Given the description of an element on the screen output the (x, y) to click on. 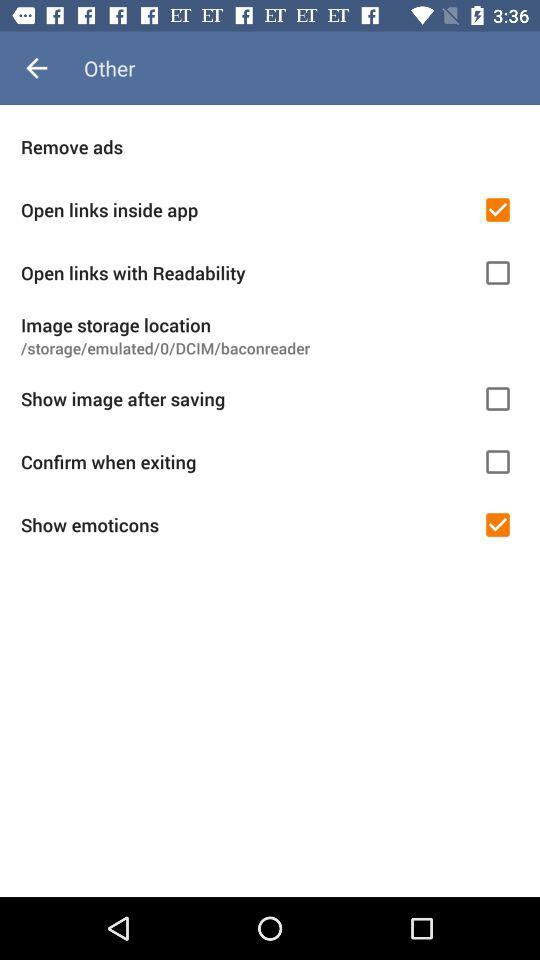
launch show image after icon (245, 398)
